Given the description of an element on the screen output the (x, y) to click on. 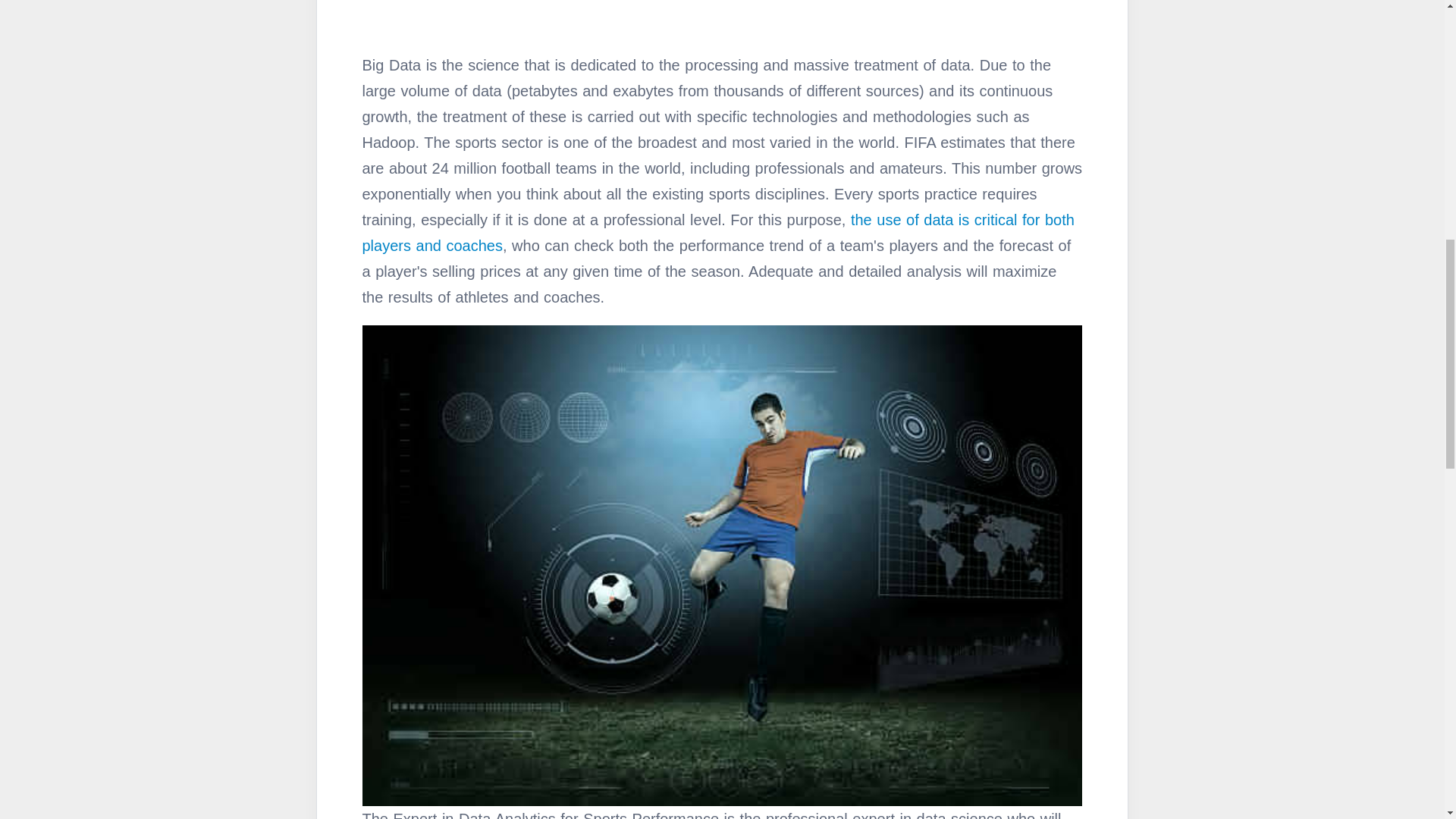
the use of data is critical for both players and coaches (718, 232)
